Given the description of an element on the screen output the (x, y) to click on. 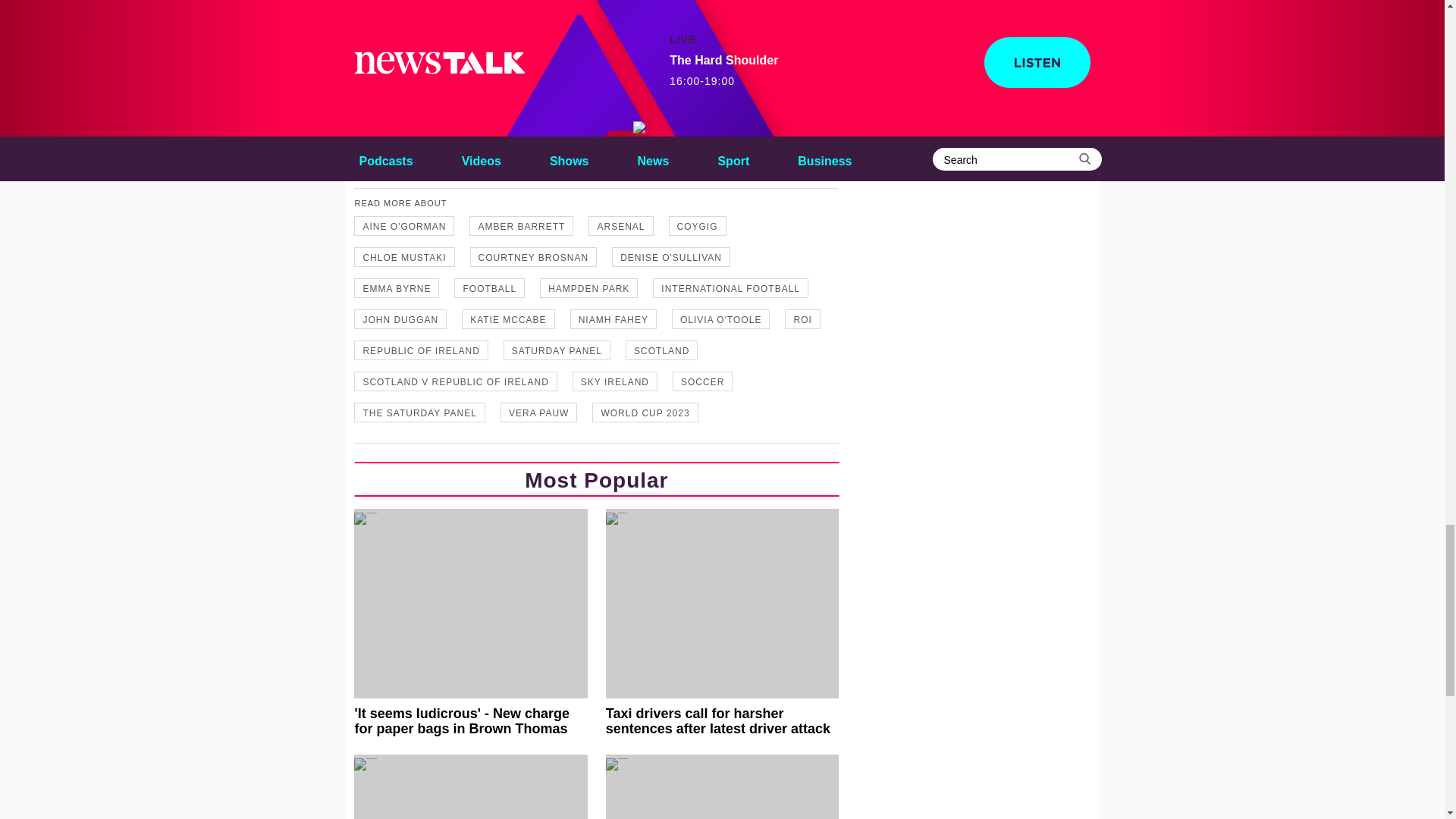
ARSENAL (620, 225)
COYGIG (697, 225)
AMBER BARRETT (520, 225)
AINE O'GORMAN (403, 225)
CHLOE MUSTAKI (403, 256)
